Given the description of an element on the screen output the (x, y) to click on. 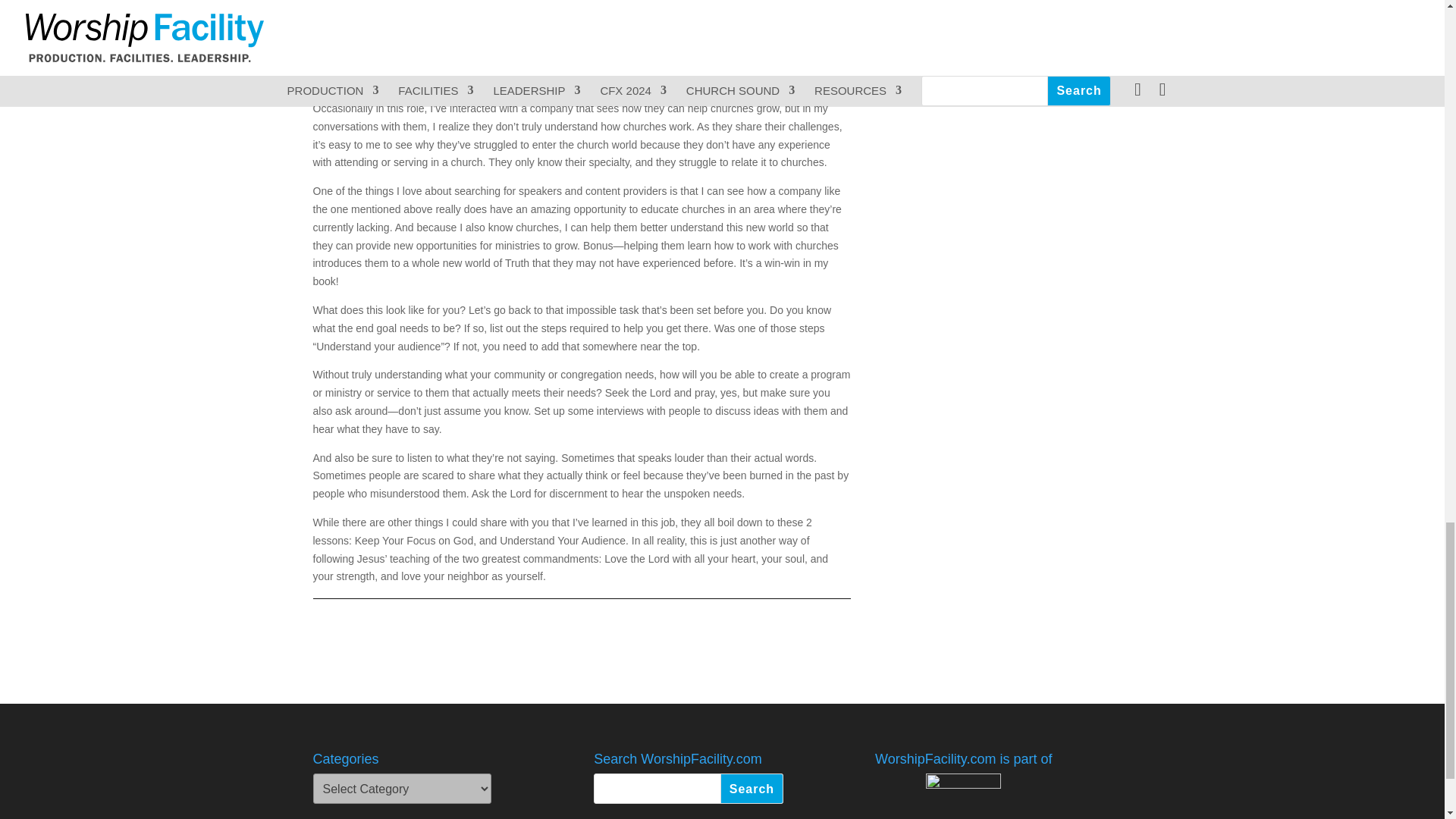
Search (752, 788)
